Given the description of an element on the screen output the (x, y) to click on. 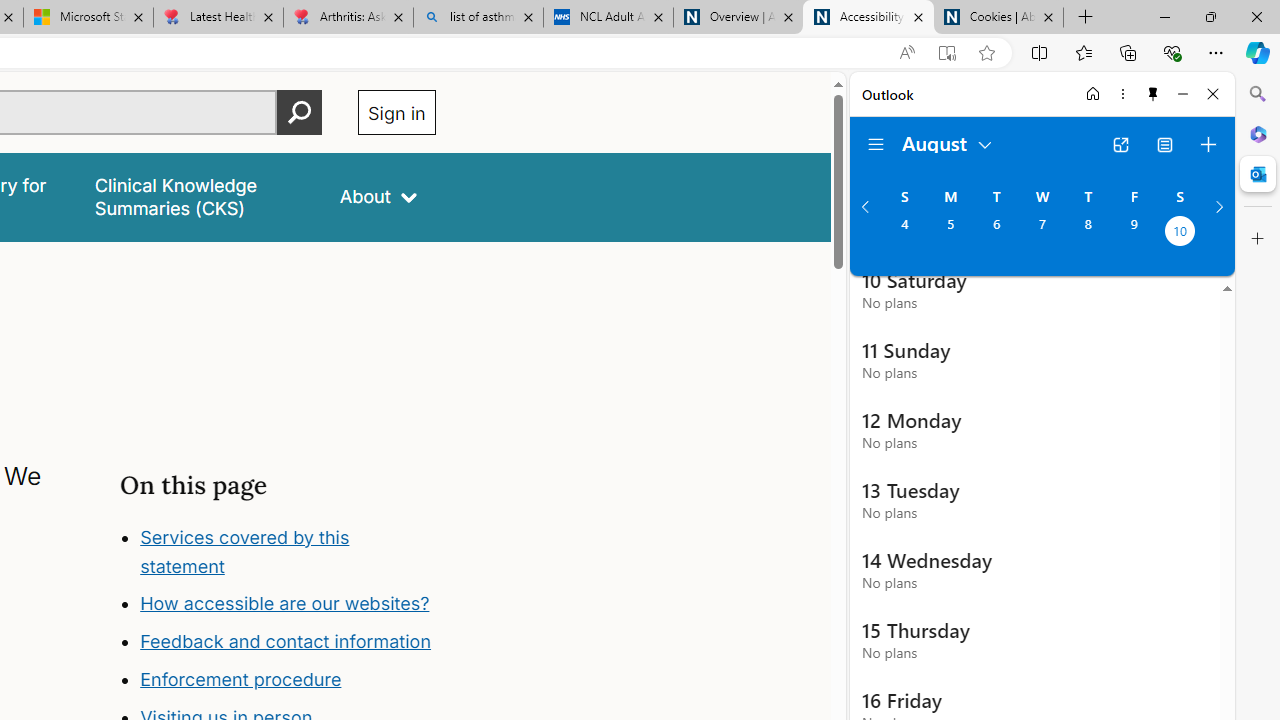
Perform search (299, 112)
